Given the description of an element on the screen output the (x, y) to click on. 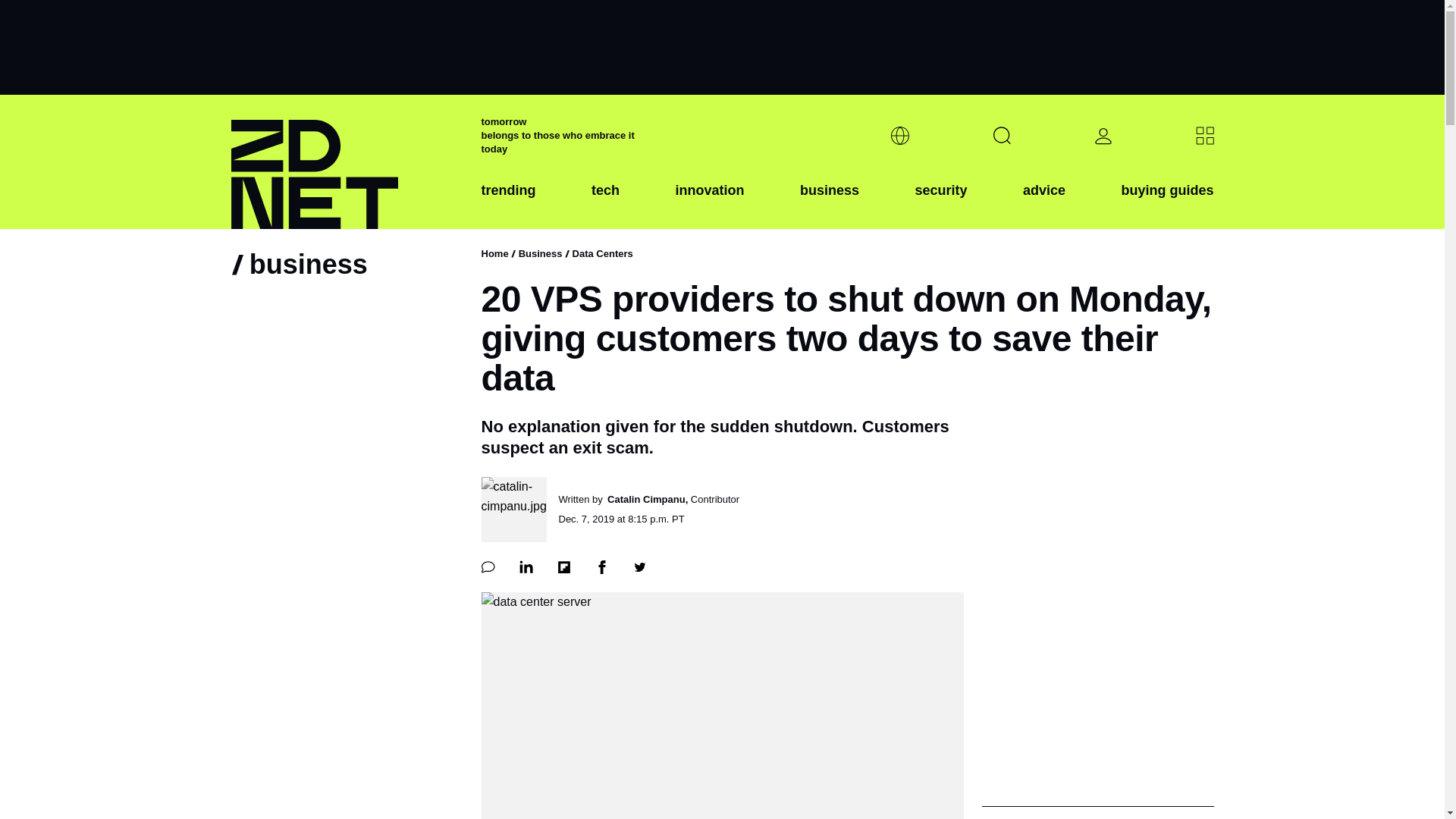
ZDNET (346, 162)
trending (507, 202)
tech (605, 202)
